Given the description of an element on the screen output the (x, y) to click on. 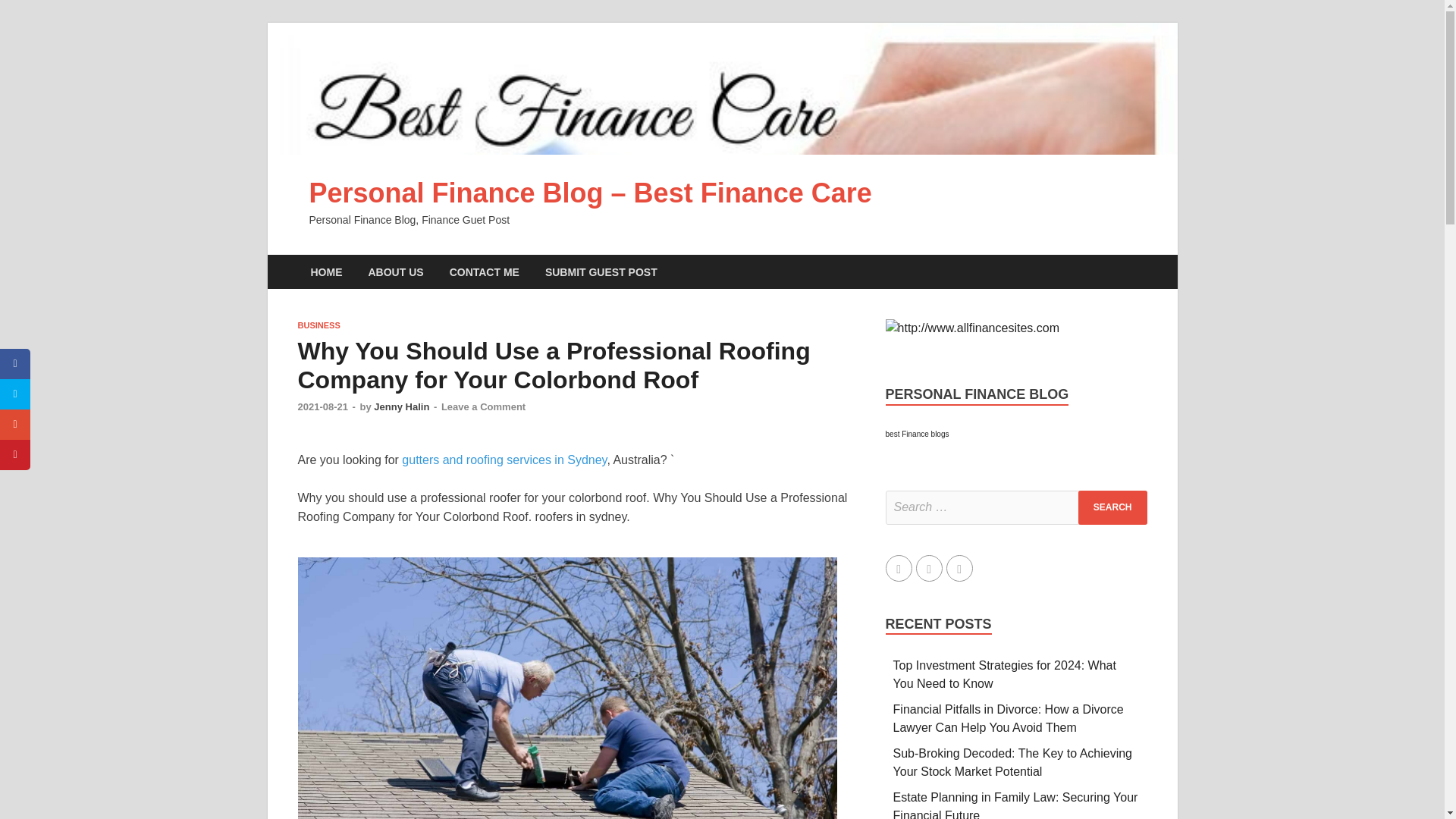
best Finance blogs (917, 433)
Top Investment Strategies for 2024: What You Need to Know (1004, 674)
SUBMIT GUEST POST (600, 271)
ABOUT US (395, 271)
Search (1112, 507)
CONTACT ME (484, 271)
gutters and roofing services in Sydney (504, 459)
BUSINESS (318, 325)
